Given the description of an element on the screen output the (x, y) to click on. 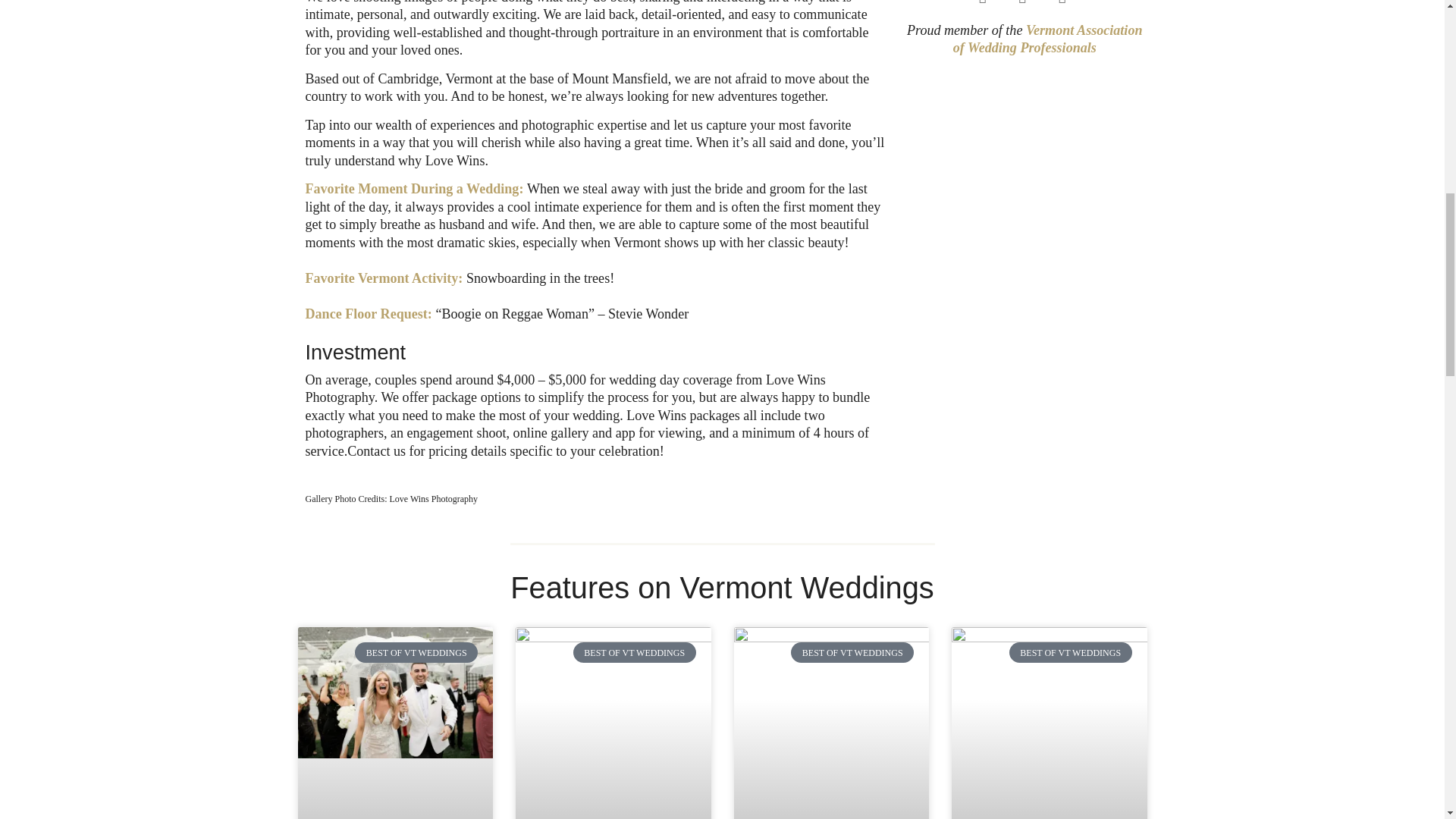
Vermont Association of Wedding Professionals (1047, 39)
